Given the description of an element on the screen output the (x, y) to click on. 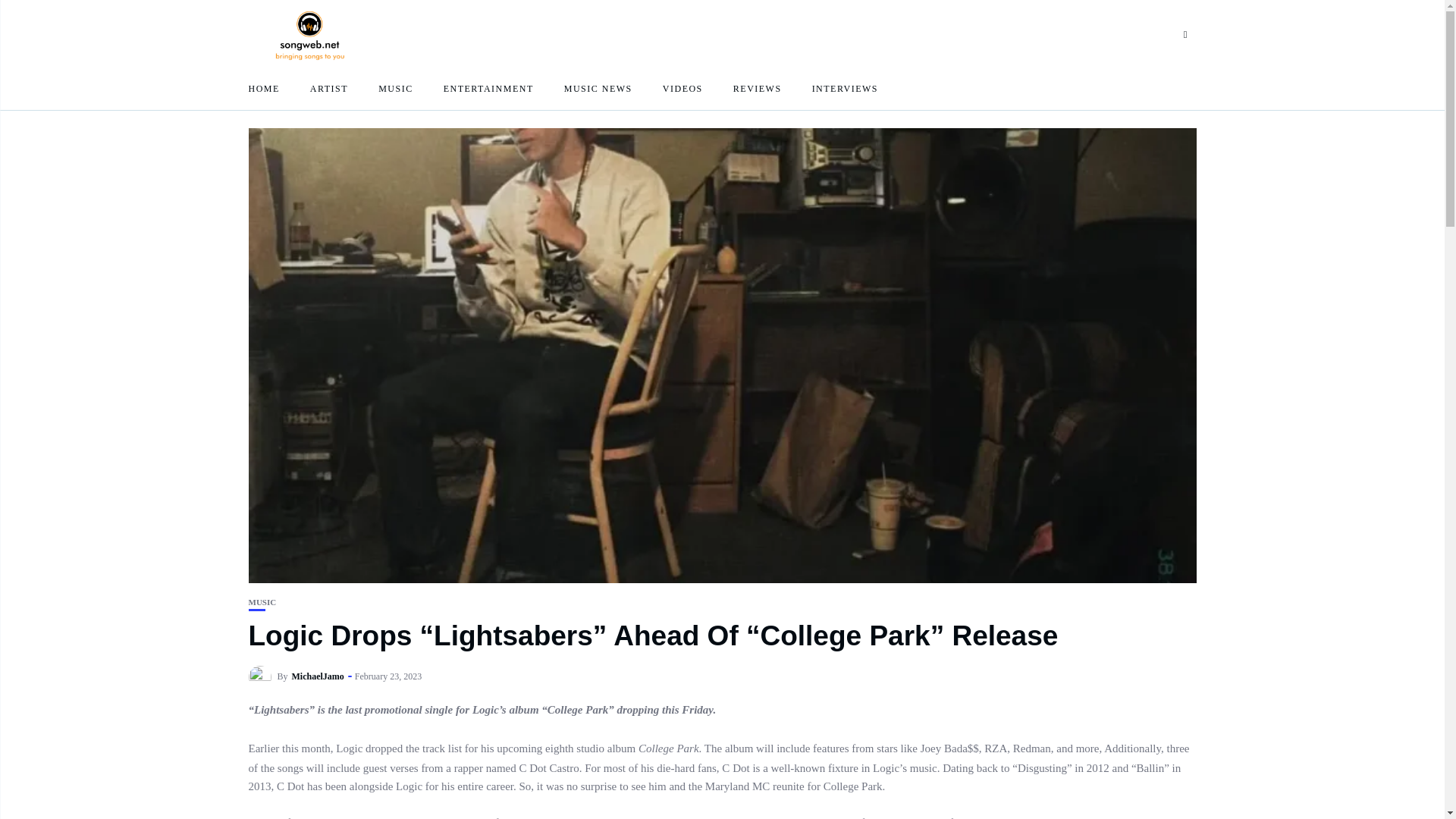
VIDEOS (682, 88)
ENTERTAINMENT (489, 88)
REVIEWS (757, 88)
HOME (263, 88)
MUSIC (395, 88)
MUSIC NEWS (597, 88)
MichaelJamo (317, 675)
MUSIC (262, 602)
INTERVIEWS (844, 88)
Posts by MichaelJamo (317, 675)
ARTIST (328, 88)
